Given the description of an element on the screen output the (x, y) to click on. 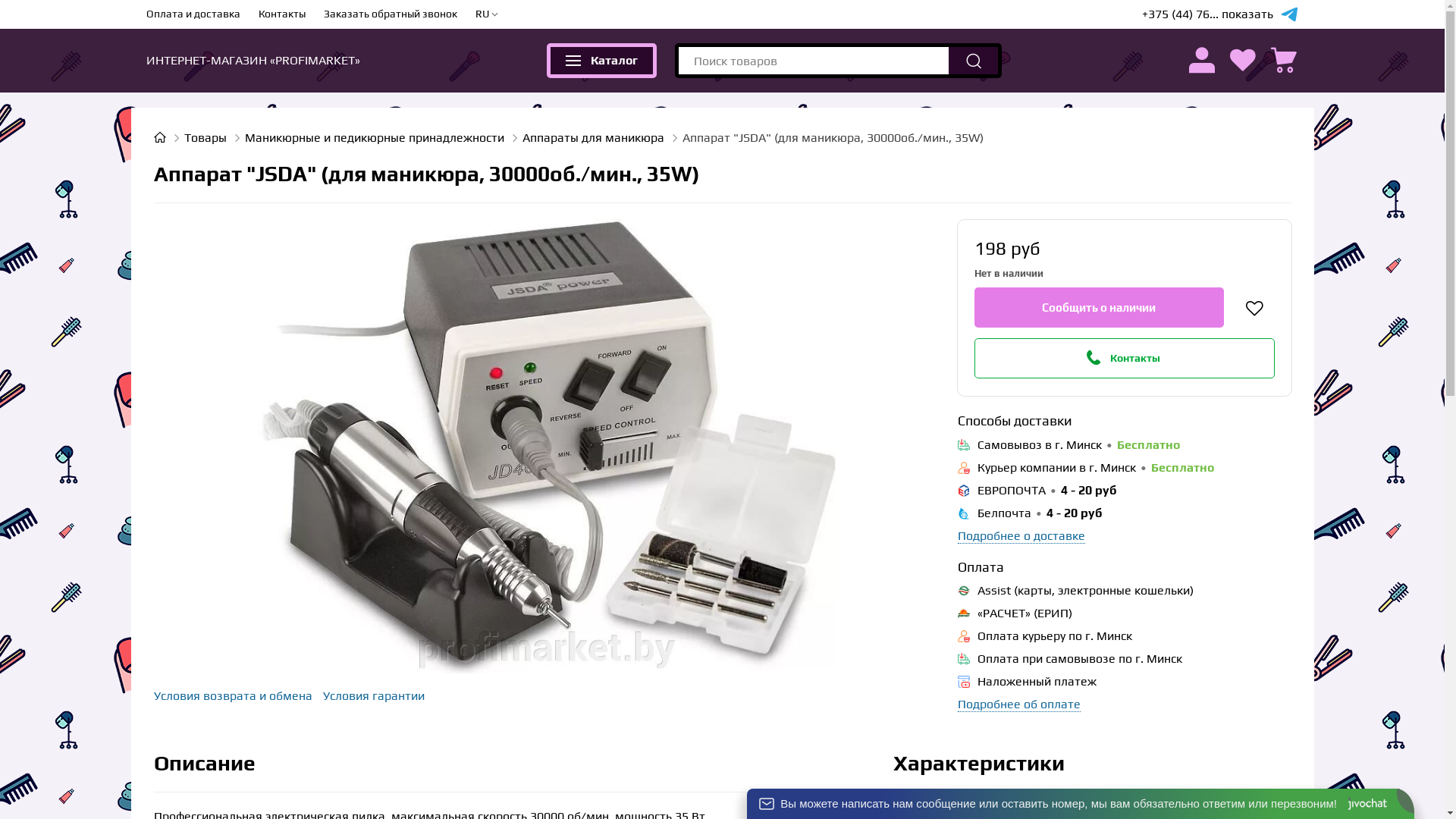
RU Element type: text (485, 14)
Telegram Element type: hover (1289, 14)
